Given the description of an element on the screen output the (x, y) to click on. 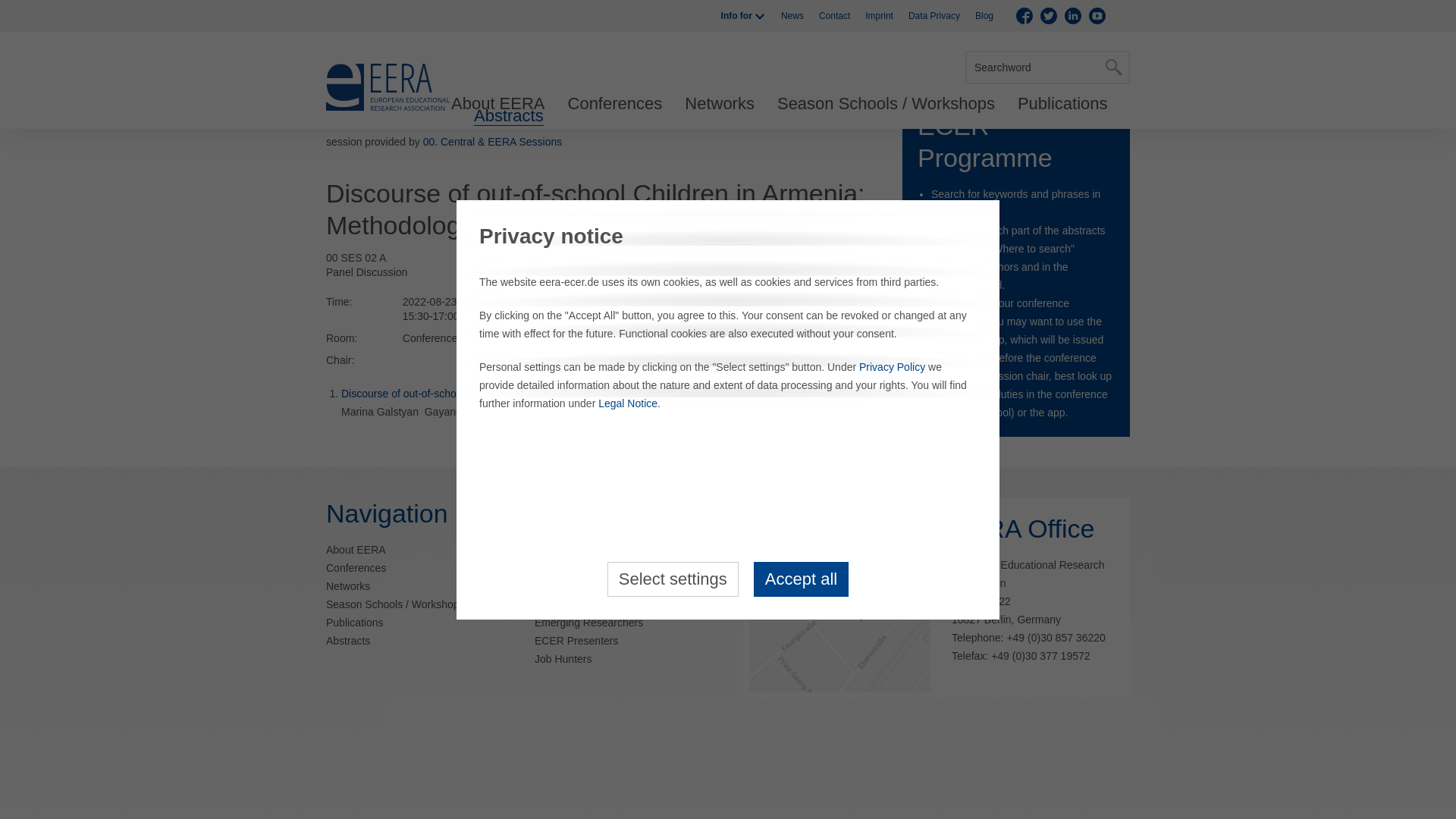
Select settings (672, 419)
Legal Notice (628, 244)
Legal Notice (628, 244)
Privacy Policy (891, 208)
Accept all (801, 419)
Privacy Policy (891, 208)
